Given the description of an element on the screen output the (x, y) to click on. 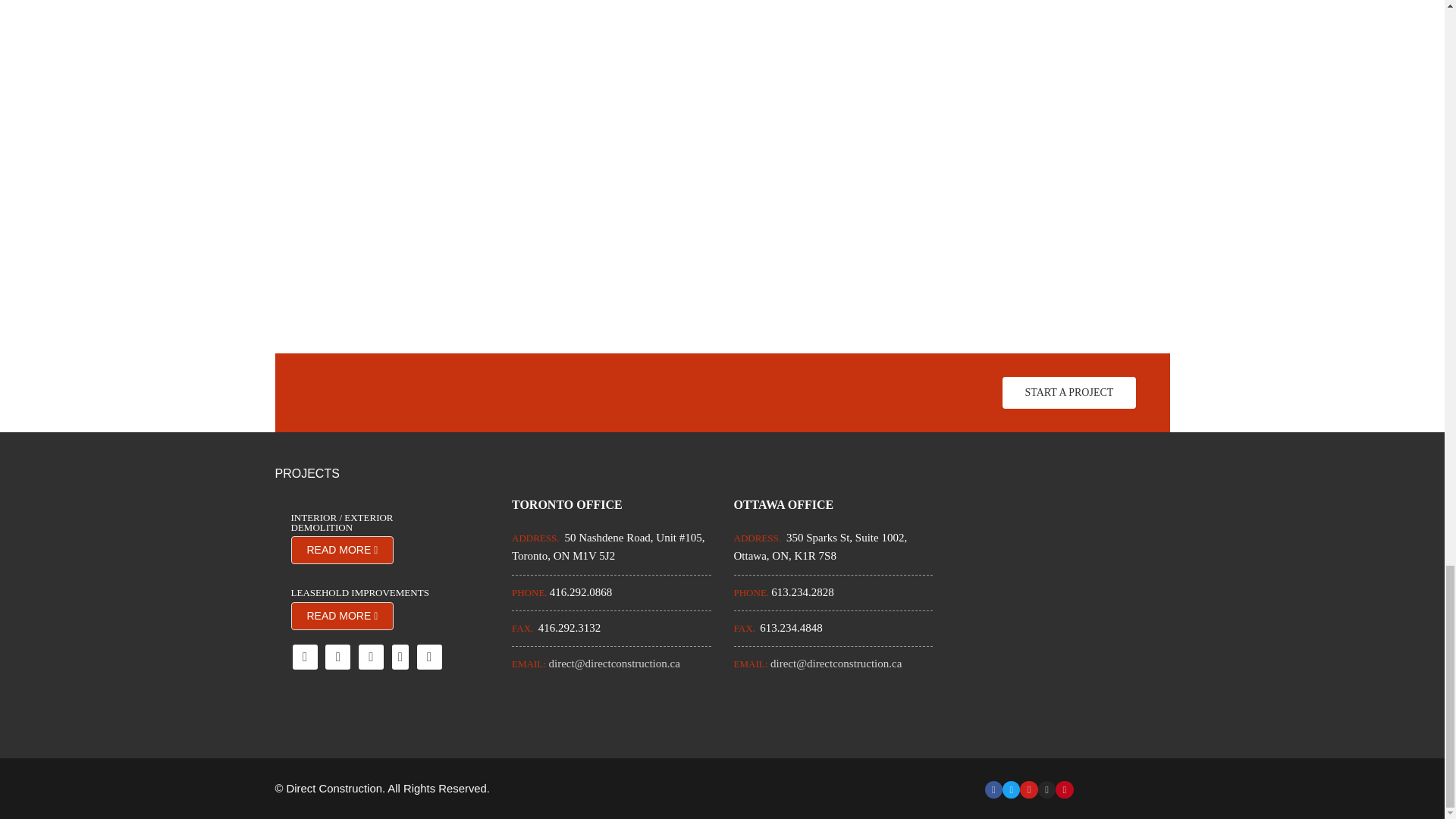
READ MORE (342, 615)
READ MORE (342, 550)
linked (371, 656)
LEASEHOLD IMPROVEMENTS (362, 593)
Facebook (304, 656)
Twitter (337, 656)
Contact Us (1070, 392)
START A PROJECT (1070, 392)
Leasehold Improvements (362, 593)
